Given the description of an element on the screen output the (x, y) to click on. 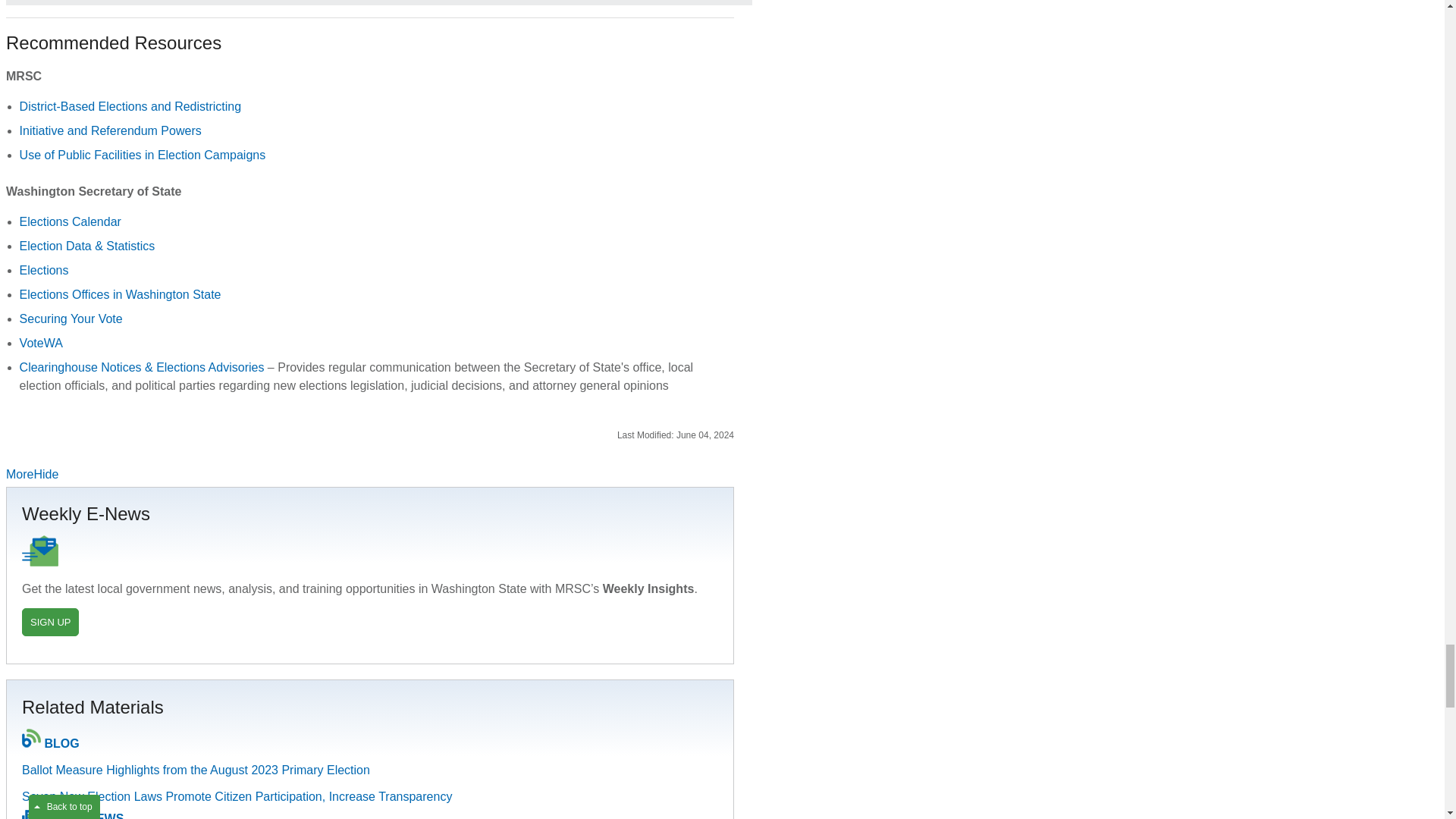
IN THE NEWS section (83, 815)
BLOG section (60, 743)
